Given the description of an element on the screen output the (x, y) to click on. 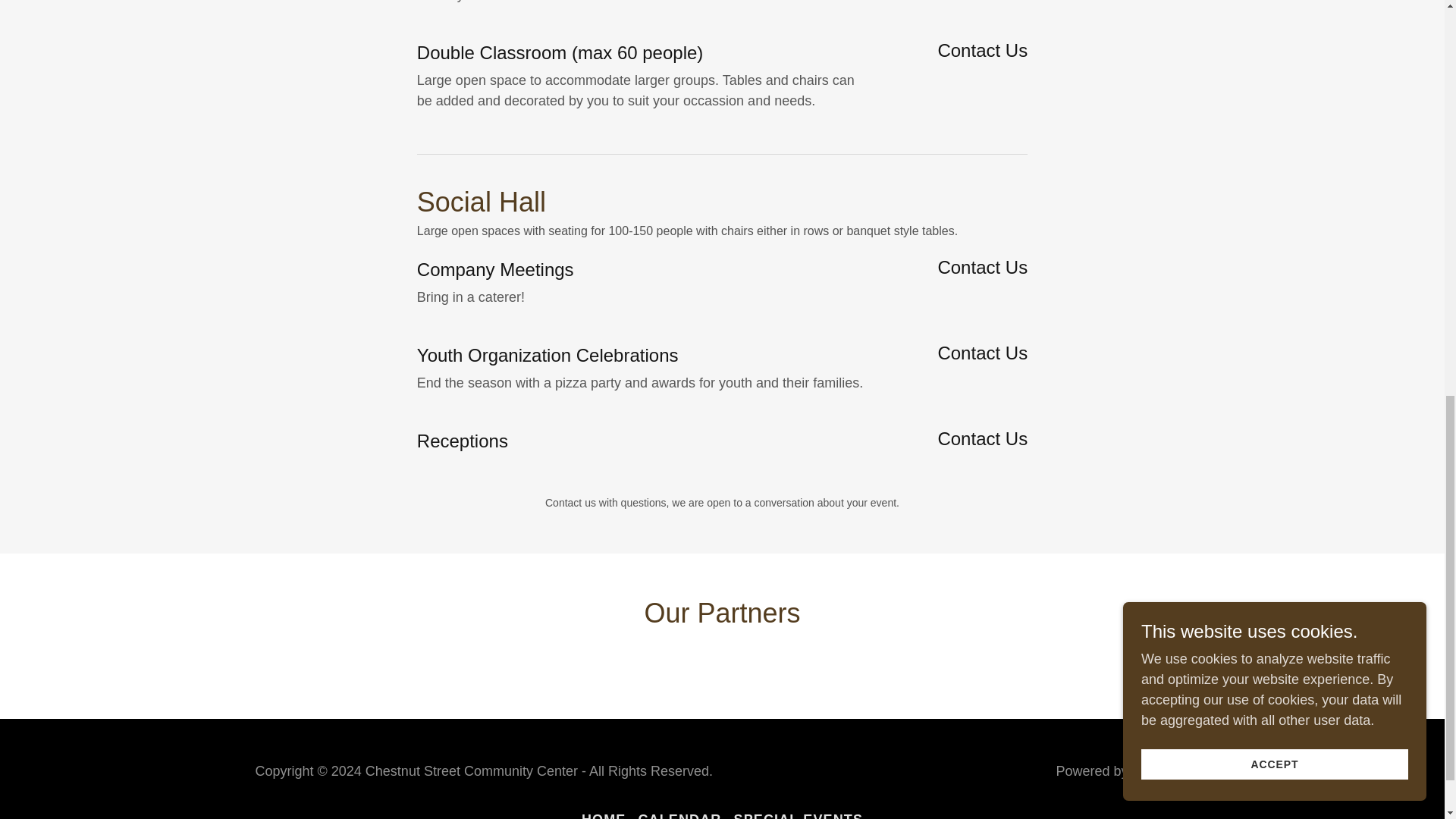
CALENDAR (678, 812)
GoDaddy (1160, 770)
HOME (603, 812)
SPECIAL EVENTS (798, 812)
